Given the description of an element on the screen output the (x, y) to click on. 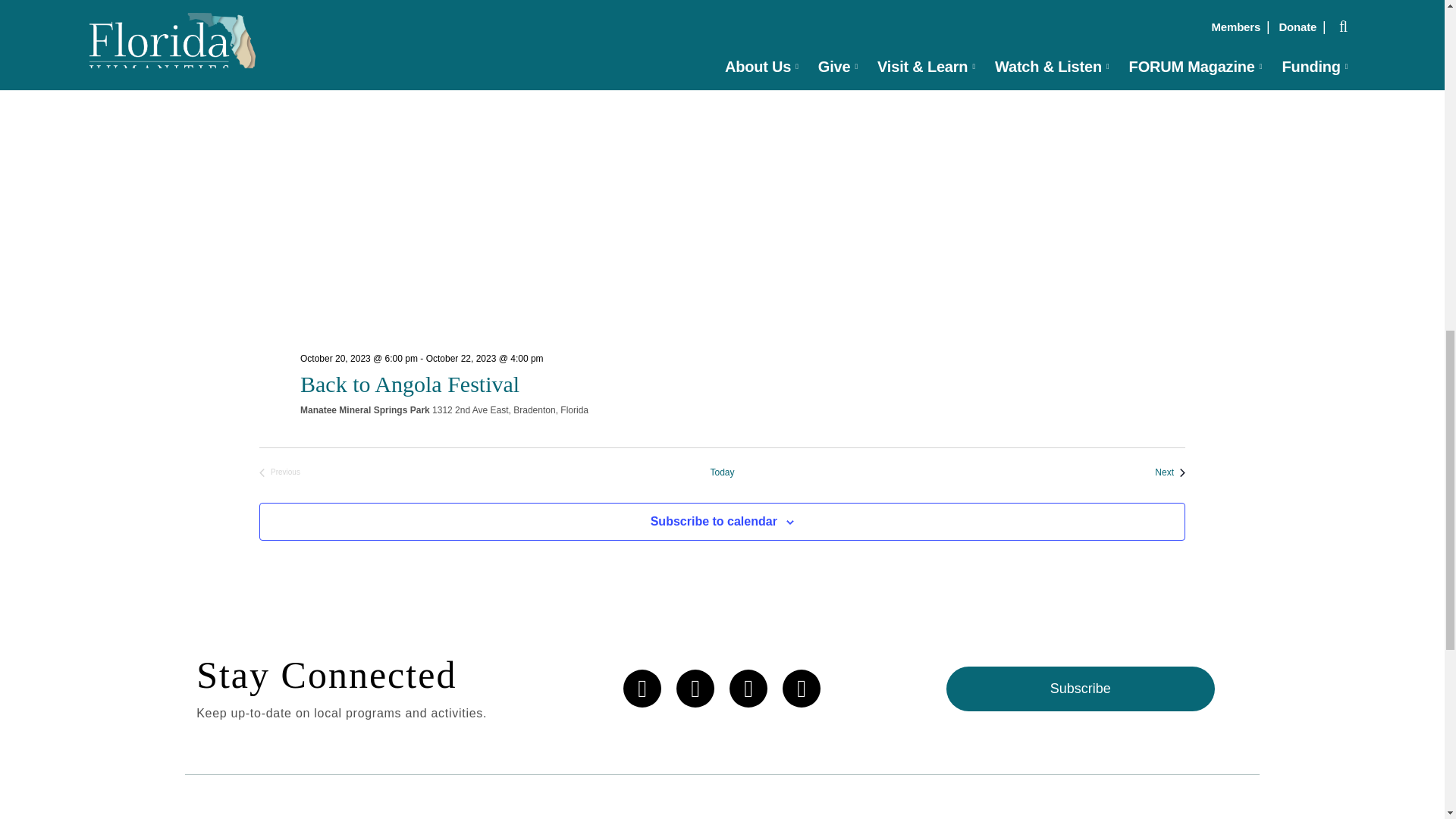
Back to Angola Festival (409, 383)
Previous Events (279, 472)
Click to select today's date (721, 472)
Next Events (1169, 472)
